Given the description of an element on the screen output the (x, y) to click on. 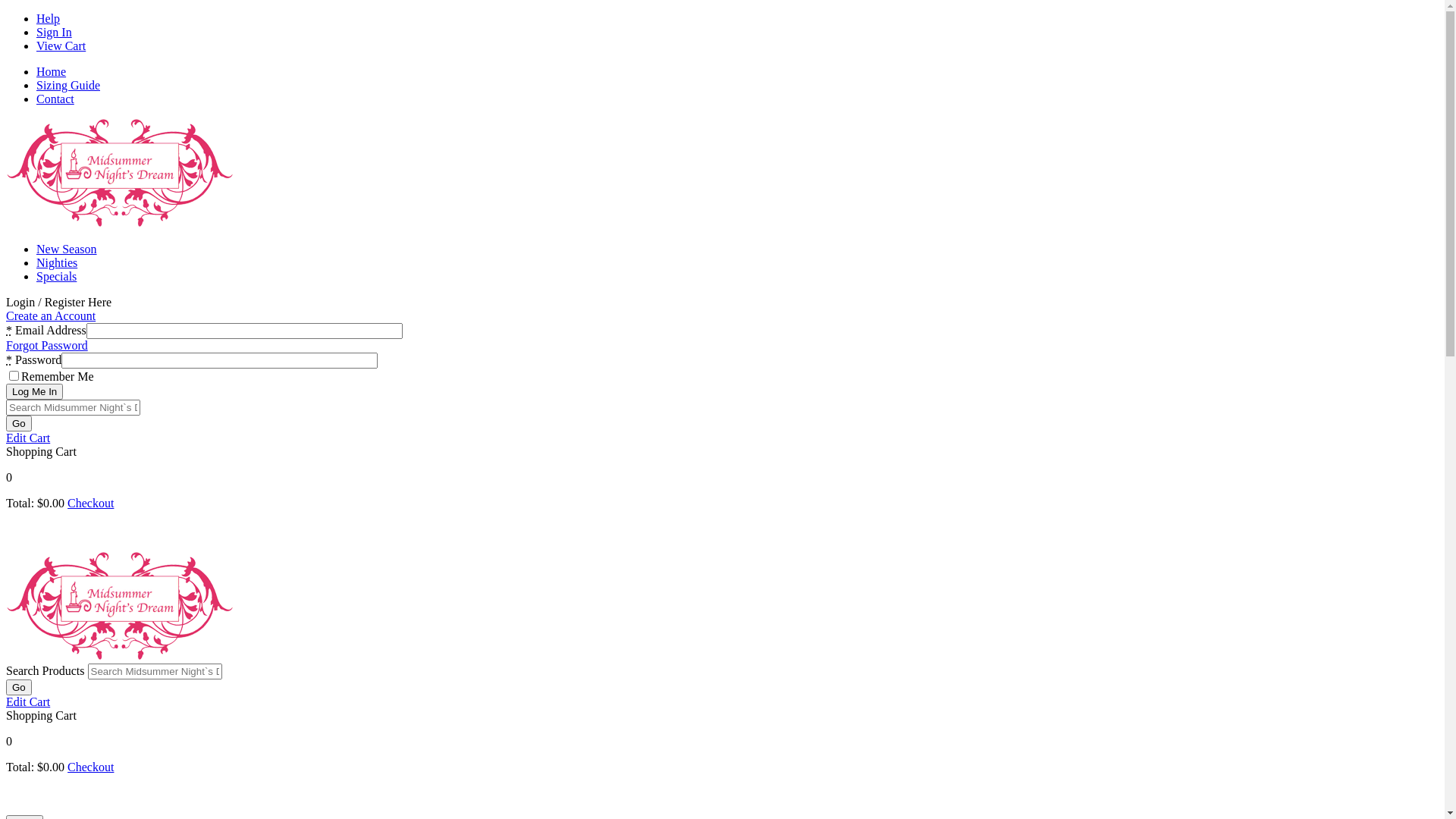
Search Products Element type: hover (73, 407)
Log Me In Element type: text (34, 391)
Nighties Element type: text (56, 262)
Go Element type: text (18, 423)
Specials Element type: text (56, 275)
Go Element type: text (18, 687)
Contact Element type: text (55, 98)
Home Element type: text (50, 71)
Edit Cart Element type: text (28, 437)
Edit Cart Element type: text (28, 701)
Help Element type: text (47, 18)
Create an Account Element type: text (50, 315)
Checkout Element type: text (90, 766)
Checkout Element type: text (90, 502)
Sizing Guide Element type: text (68, 84)
Forgot Password Element type: text (46, 344)
New Season Element type: text (66, 248)
View Cart Element type: text (60, 45)
Search Products Element type: hover (154, 671)
Sign In Element type: text (54, 31)
